Given the description of an element on the screen output the (x, y) to click on. 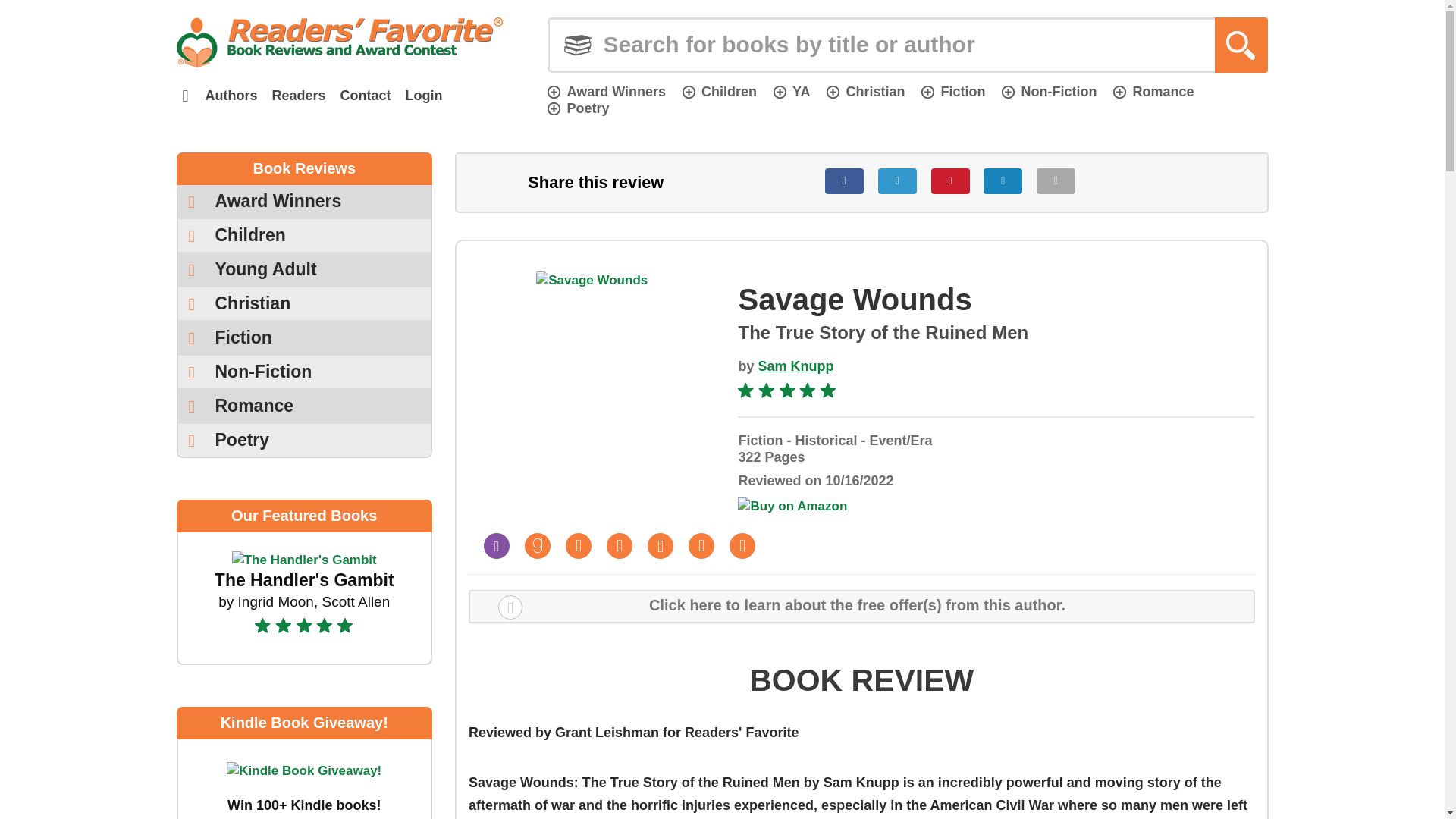
Poetry (577, 108)
Readers (297, 96)
Authors (230, 96)
Award Winners (606, 91)
Contact (365, 96)
Children (719, 91)
Christian (865, 91)
Award Winners (303, 202)
Login (423, 96)
Romance (1153, 91)
YA (791, 91)
Non-Fiction (1048, 91)
Readers' Favorite (339, 42)
Fiction (953, 91)
